Given the description of an element on the screen output the (x, y) to click on. 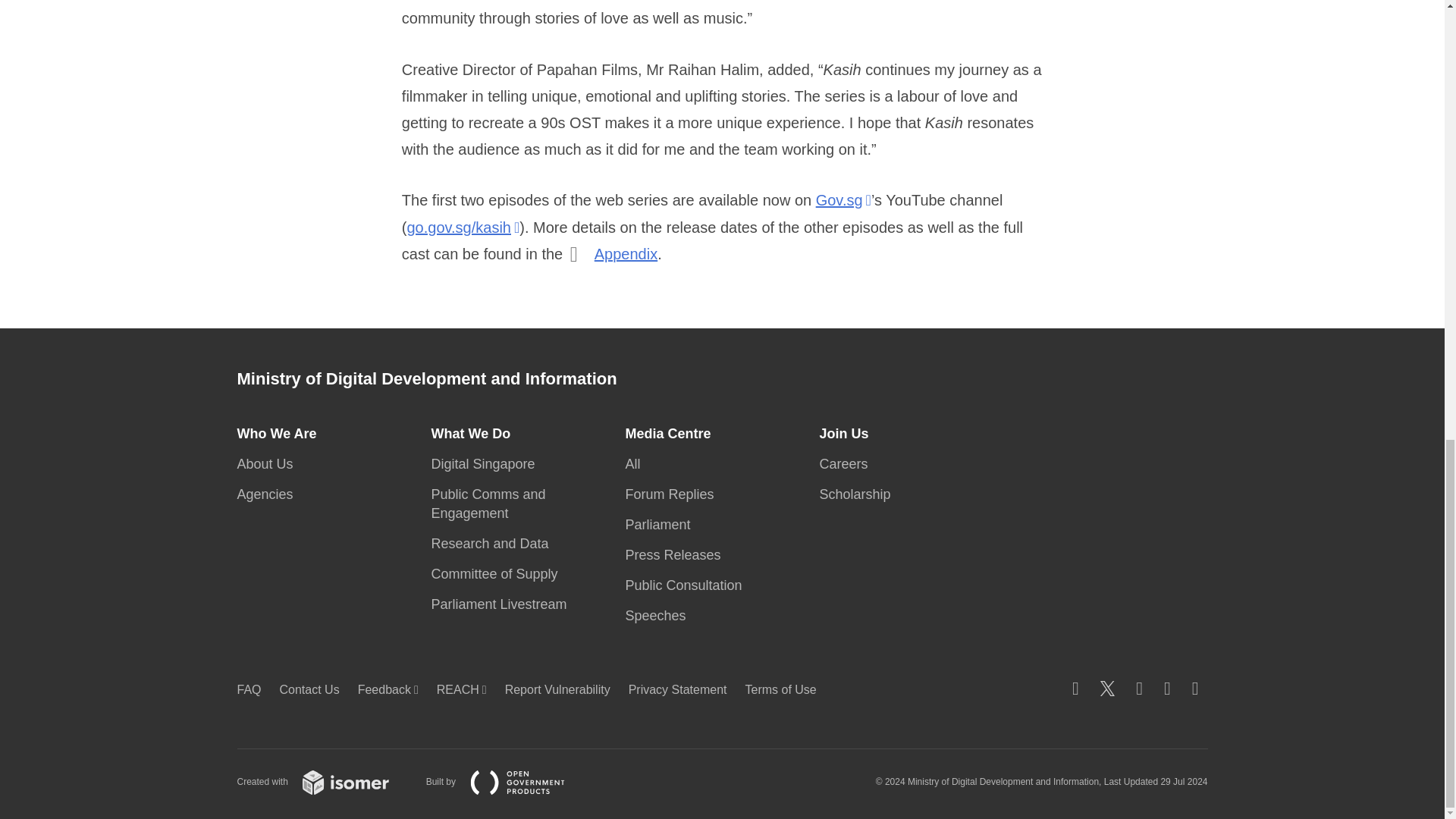
Appendix (626, 253)
Who We Are (279, 433)
Link to reach.gov.sg (466, 689)
Gov.sg (842, 199)
